Given the description of an element on the screen output the (x, y) to click on. 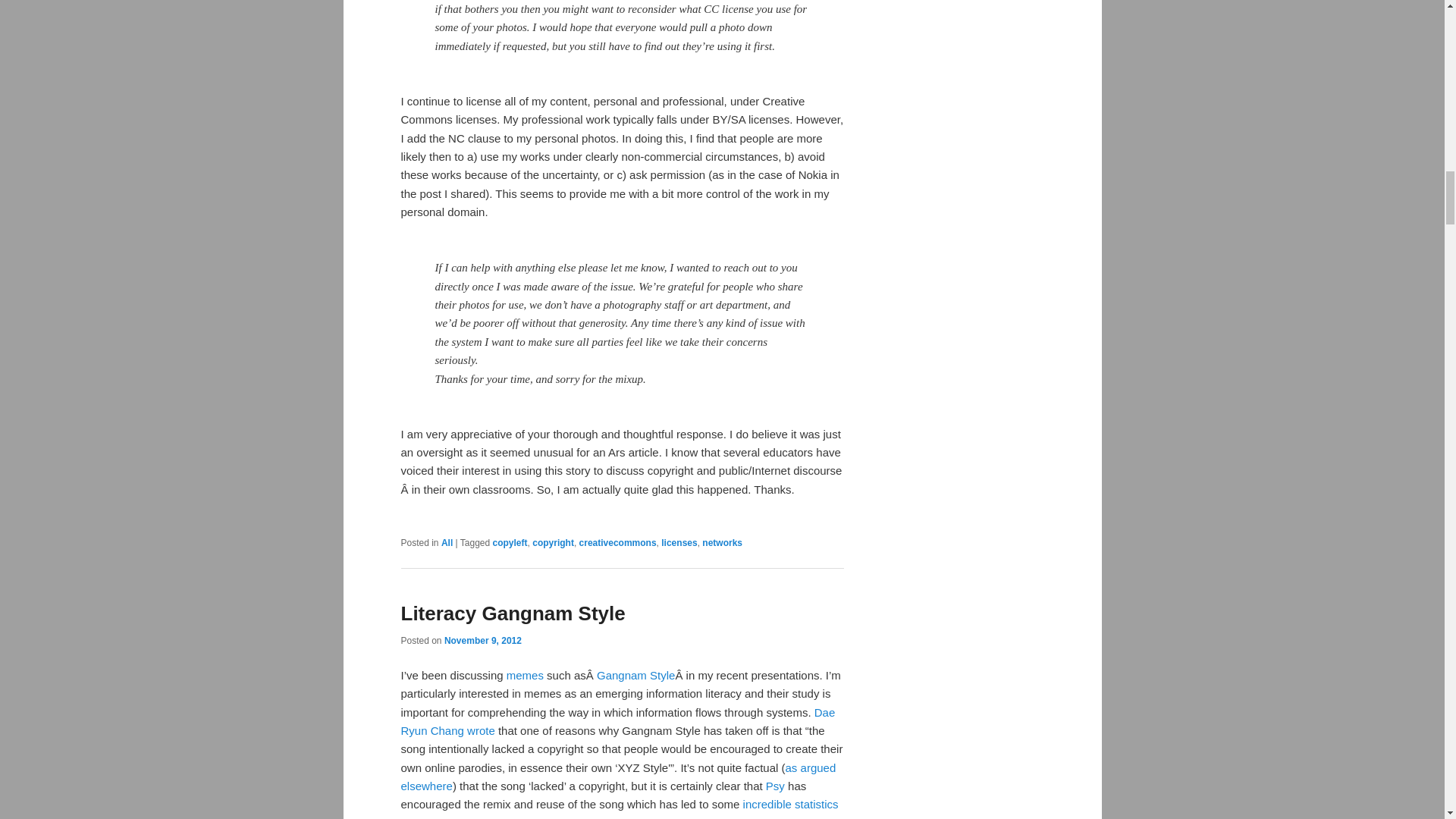
Dae Ryun Chang wrote (617, 721)
copyleft (510, 542)
Gangnam Style (635, 675)
November 9, 2012 (482, 640)
copyright (552, 542)
Literacy Gangnam Style (512, 612)
creativecommons (617, 542)
licenses (679, 542)
networks (721, 542)
All (446, 542)
